Given the description of an element on the screen output the (x, y) to click on. 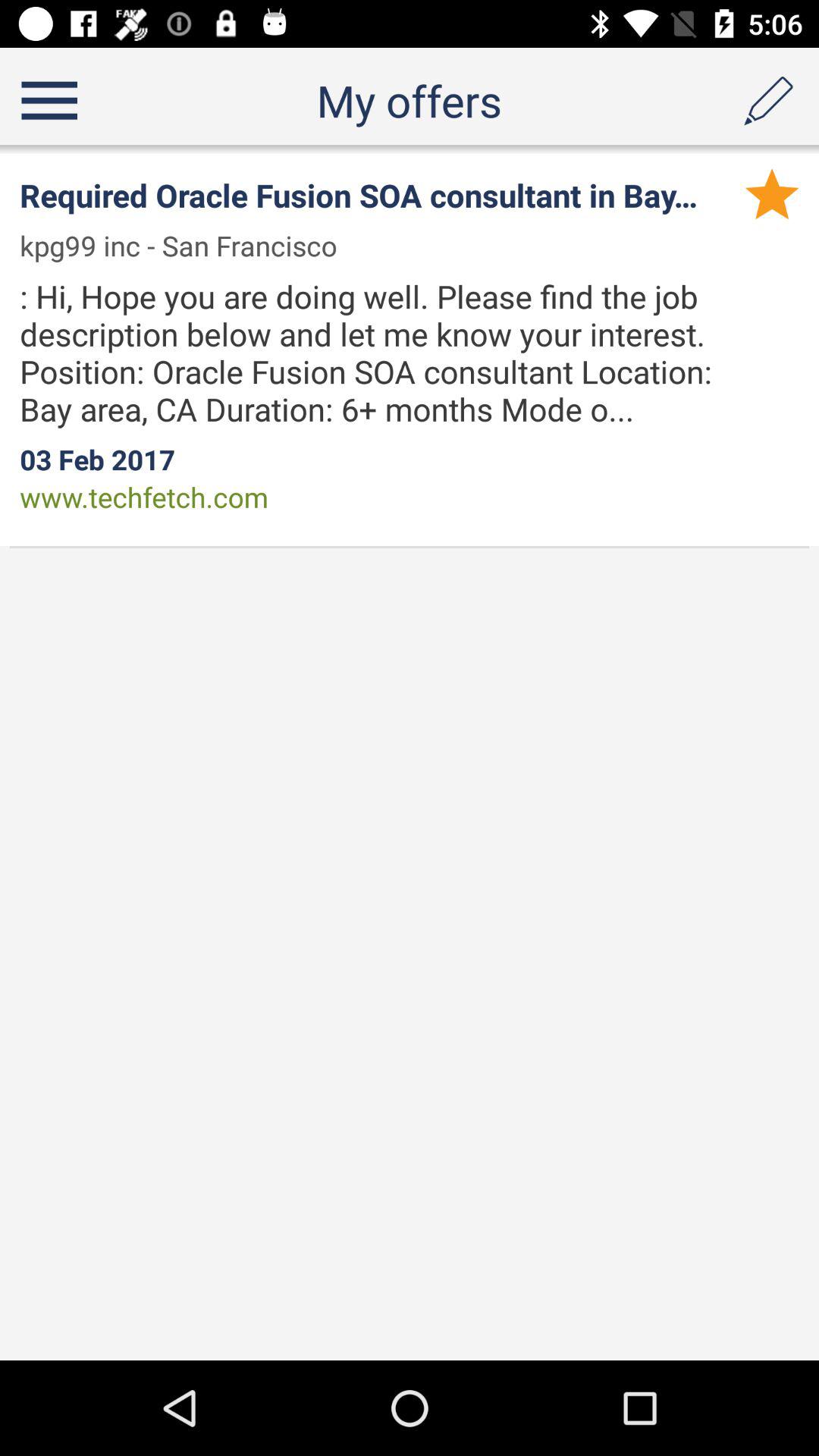
press the www.techfetch.com app (143, 496)
